Given the description of an element on the screen output the (x, y) to click on. 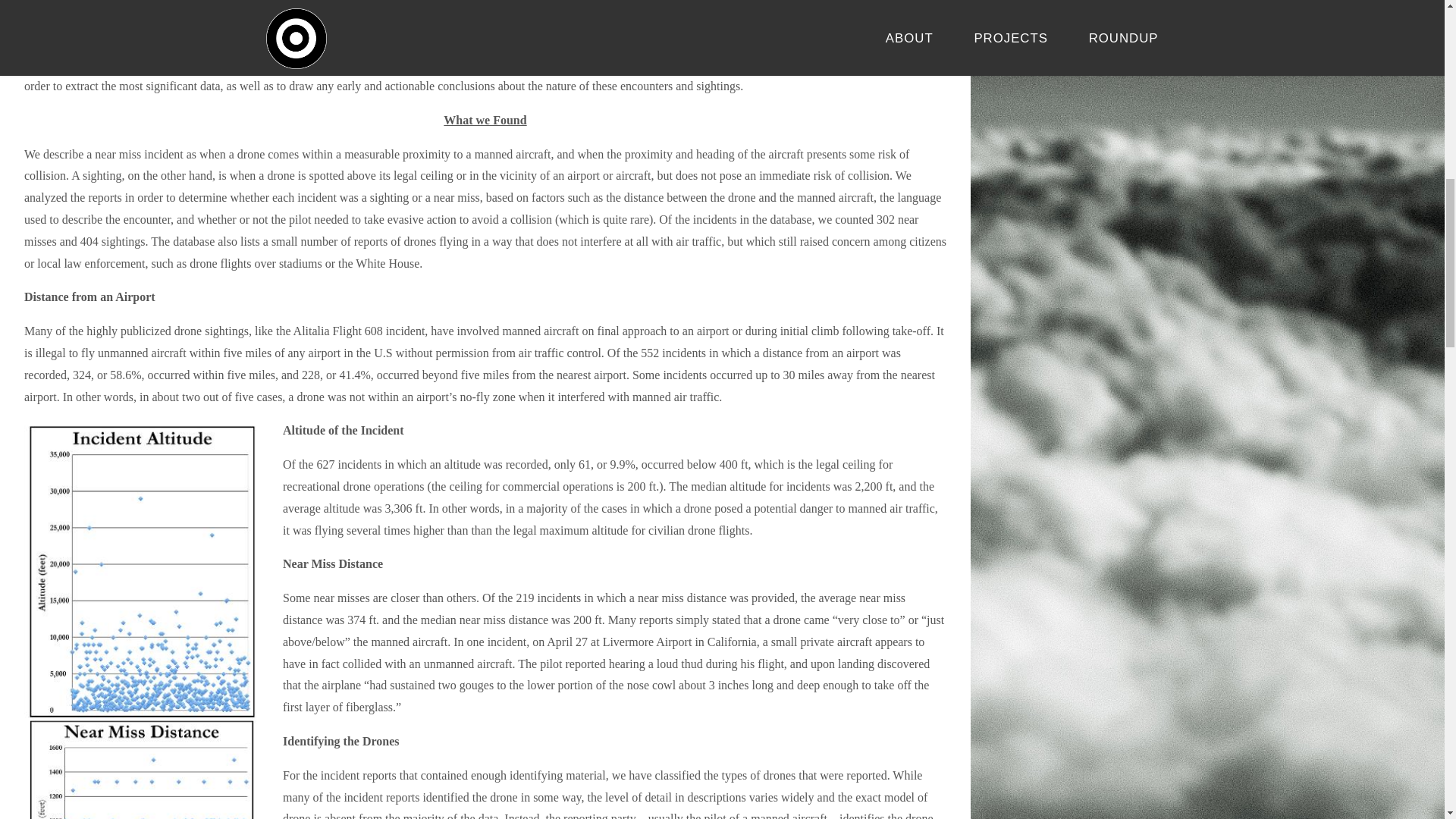
all reports (484, 20)
to the Washington Post (268, 20)
